Given the description of an element on the screen output the (x, y) to click on. 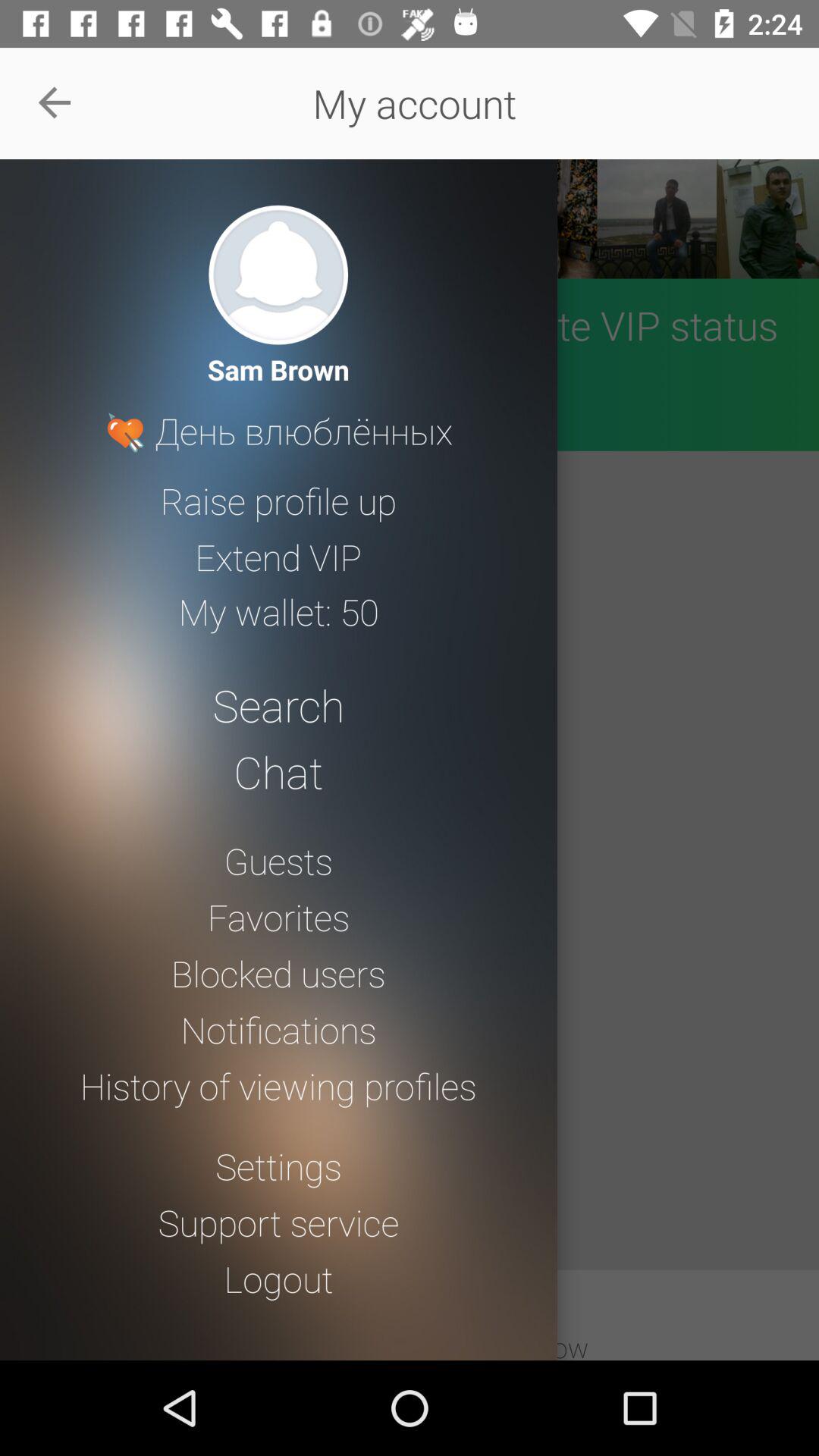
move to the text below blocked users (278, 1030)
select the text below extend vip (279, 612)
select the option above settings (278, 1085)
